Given the description of an element on the screen output the (x, y) to click on. 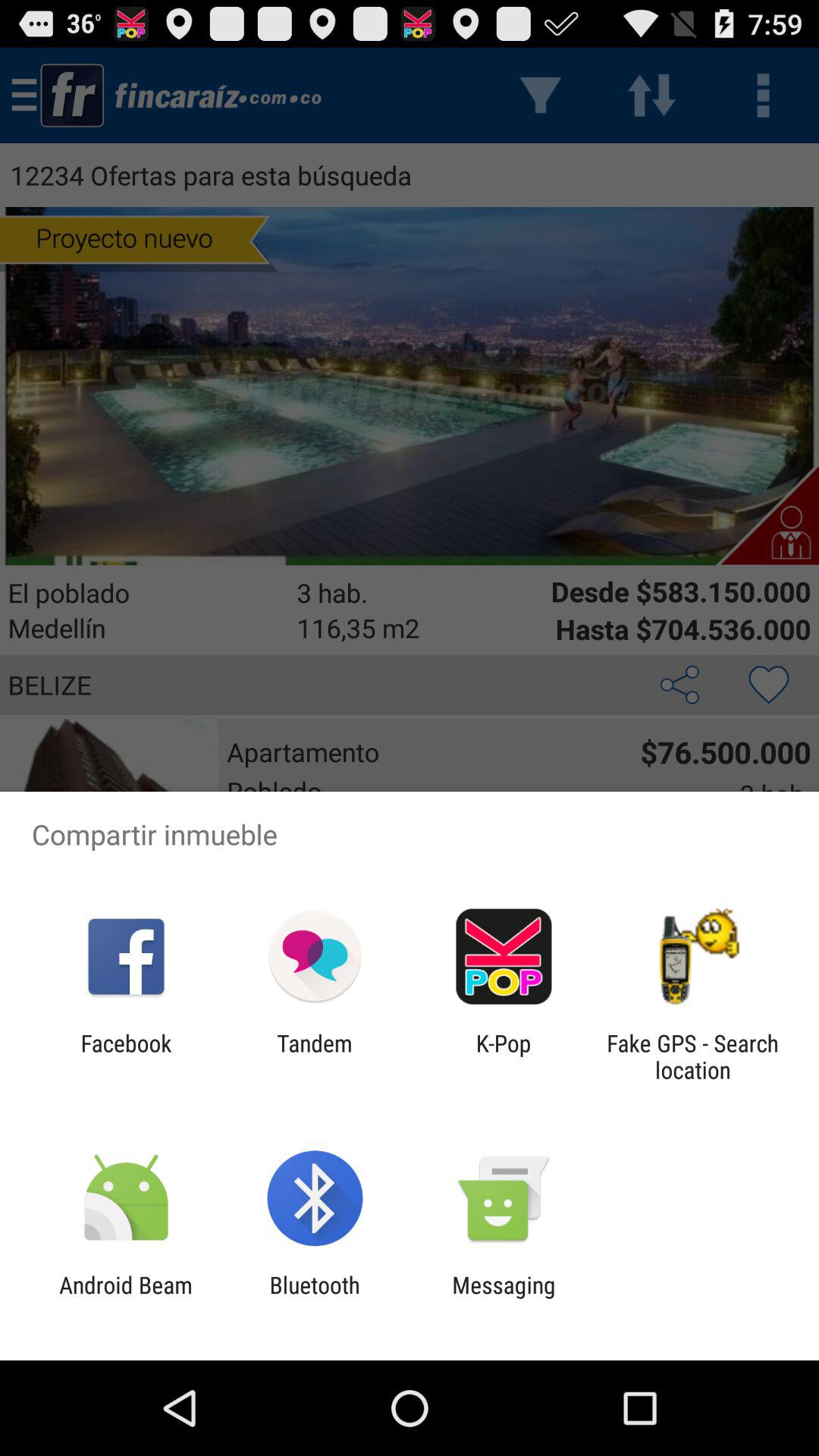
turn off the k-pop icon (503, 1056)
